Given the description of an element on the screen output the (x, y) to click on. 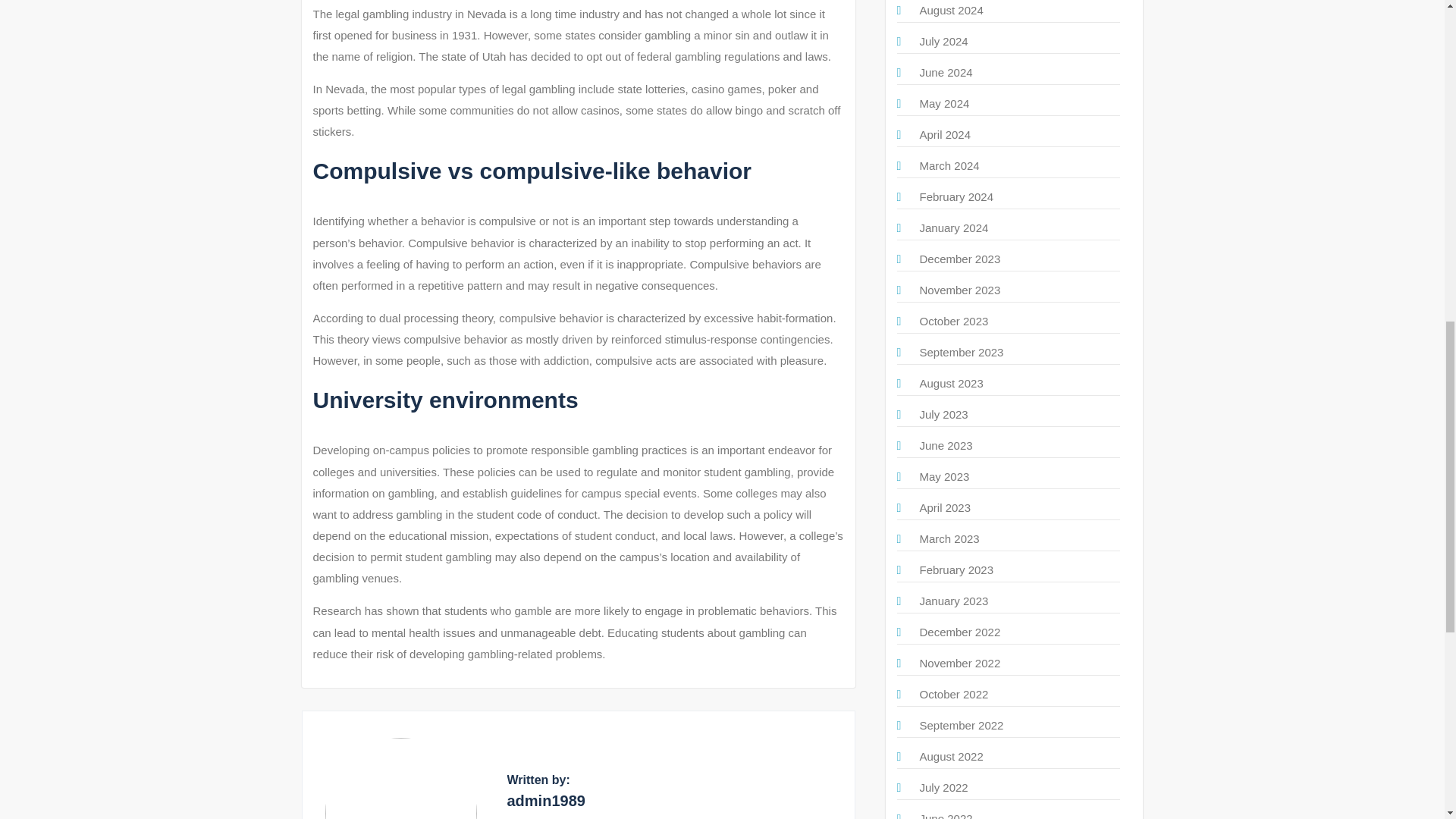
November 2023 (959, 289)
January 2024 (953, 227)
March 2024 (948, 164)
August 2024 (950, 10)
February 2023 (955, 569)
March 2023 (948, 538)
July 2024 (943, 41)
August 2023 (950, 382)
June 2023 (945, 445)
November 2022 (959, 662)
